Given the description of an element on the screen output the (x, y) to click on. 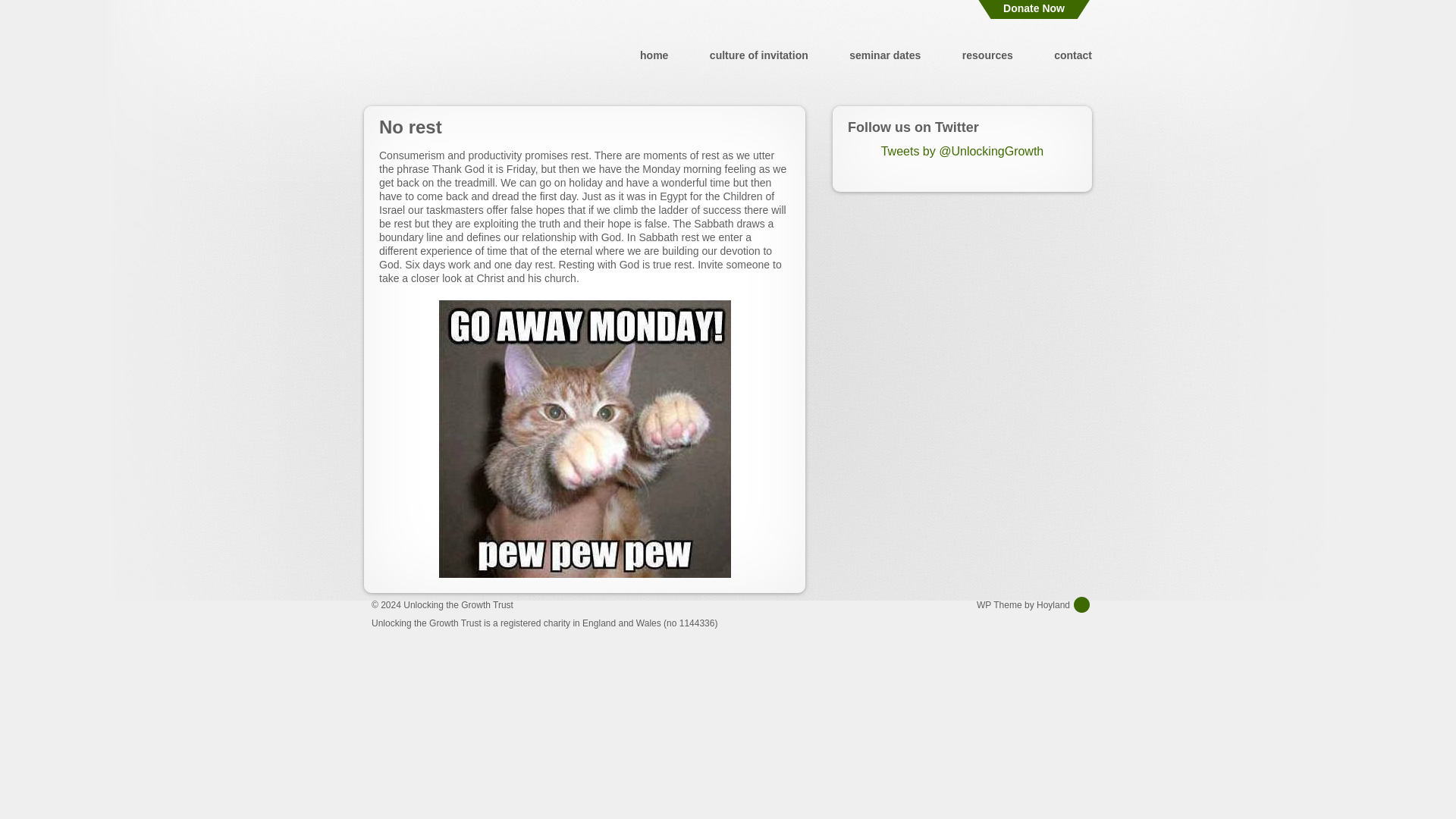
seminar dates (884, 55)
Unlocking the Growth (457, 55)
Unlocking the Growth Trust (458, 604)
home (654, 55)
Unlocking the Growth Trust (457, 55)
contact (1073, 55)
resources (987, 55)
Donate Now (1033, 9)
WP Theme by Hoyland (1033, 604)
culture of invitation (759, 55)
Wordpress theme by Hoyland Web Design (1033, 604)
Unlocking the Growth Trust (458, 604)
